Given the description of an element on the screen output the (x, y) to click on. 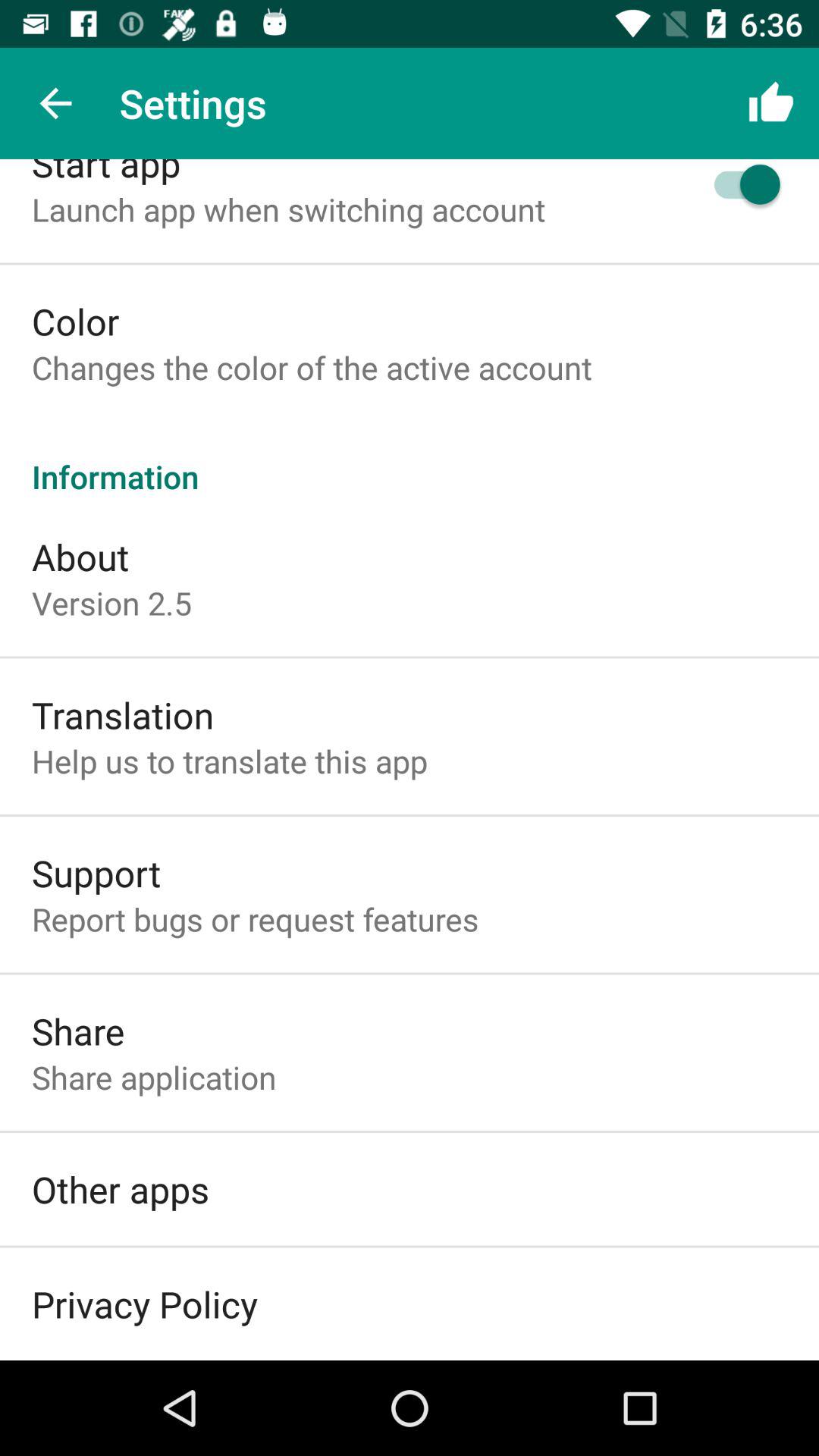
turn on icon above the report bugs or (95, 872)
